Given the description of an element on the screen output the (x, y) to click on. 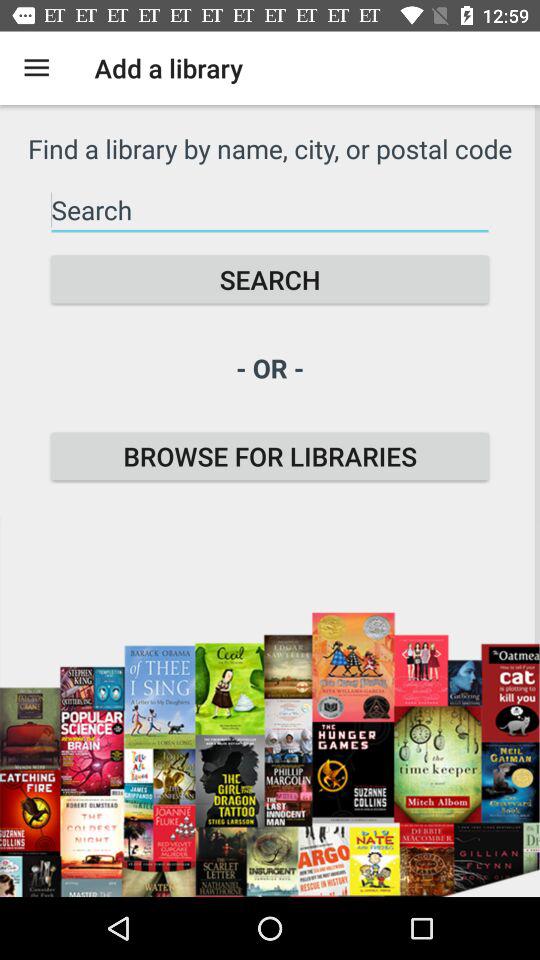
click the icon to the left of add a library icon (36, 68)
